Given the description of an element on the screen output the (x, y) to click on. 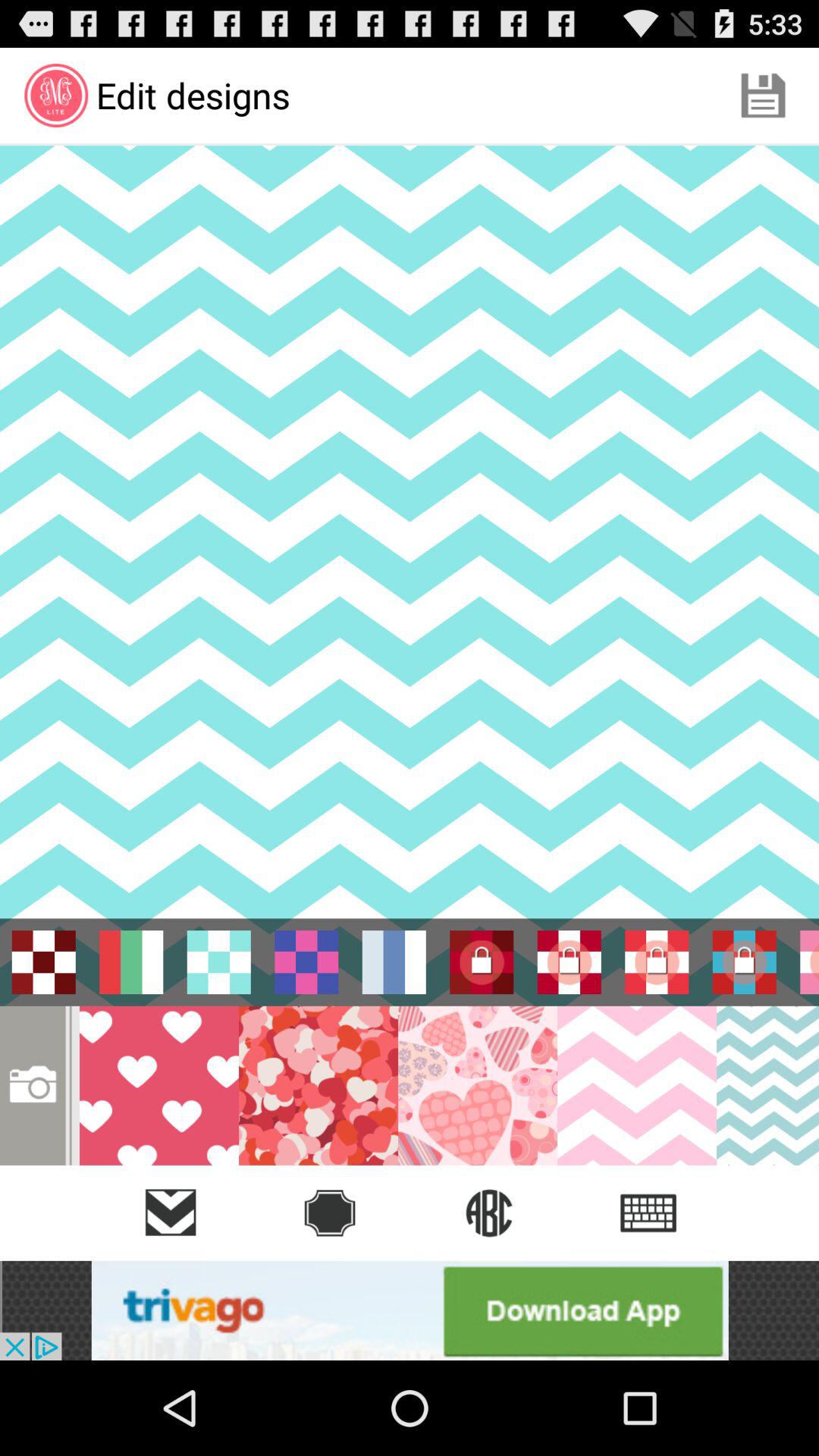
turn on the item next to the edit designs icon (763, 95)
